Given the description of an element on the screen output the (x, y) to click on. 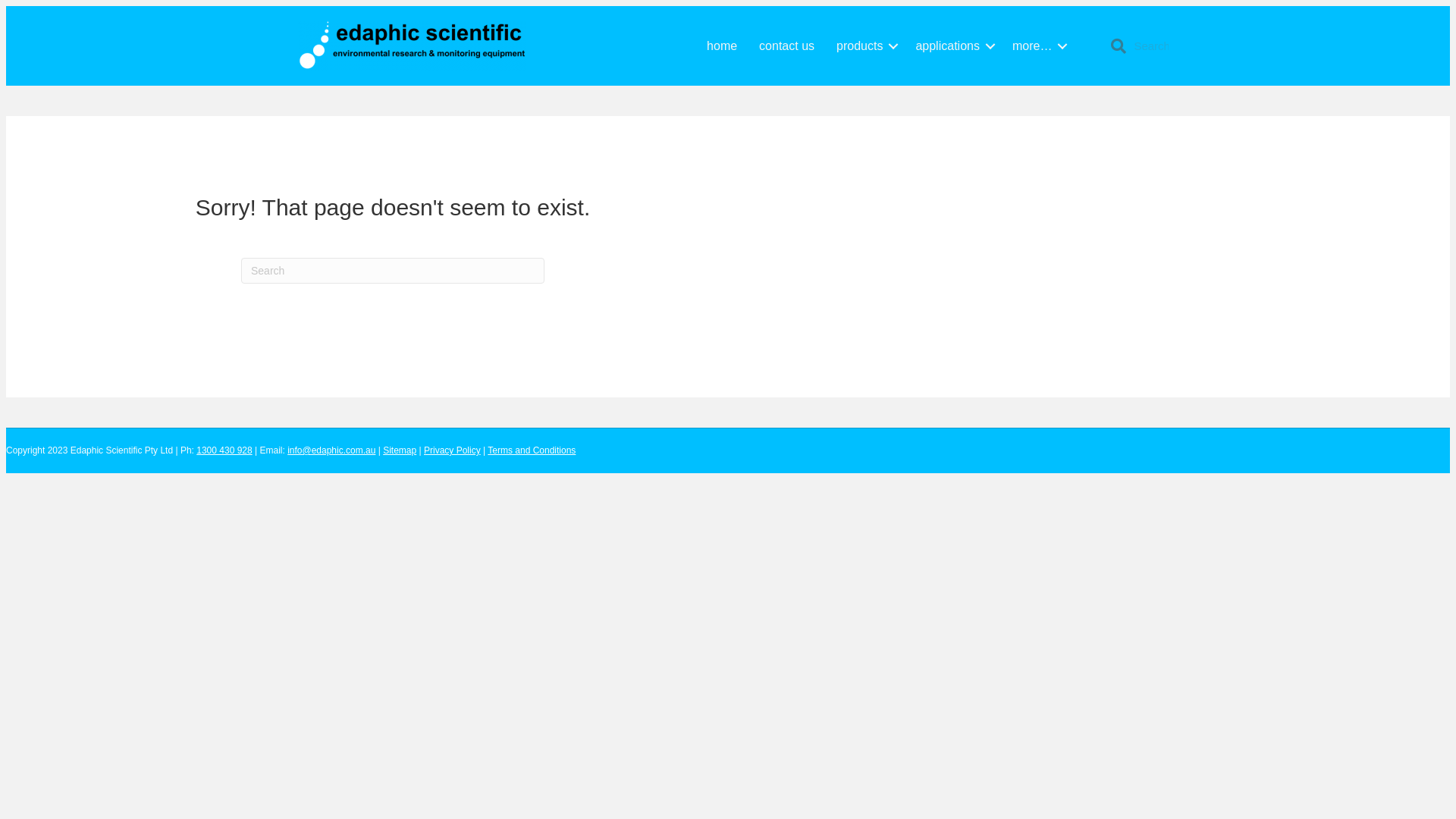
contact us Element type: text (786, 45)
Sitemap Element type: text (399, 450)
applications Element type: text (952, 45)
home Element type: text (721, 45)
Terms and Conditions Element type: text (531, 450)
products Element type: text (864, 45)
Type and press Enter to search. Element type: hover (392, 270)
1300 430 928 Element type: text (223, 450)
info@edaphic.com.au Element type: text (331, 450)
Search Element type: hover (1156, 45)
PageLines-NewSkyBlueLogoMobile.png Element type: hover (411, 45)
Privacy Policy Element type: text (451, 450)
